Given the description of an element on the screen output the (x, y) to click on. 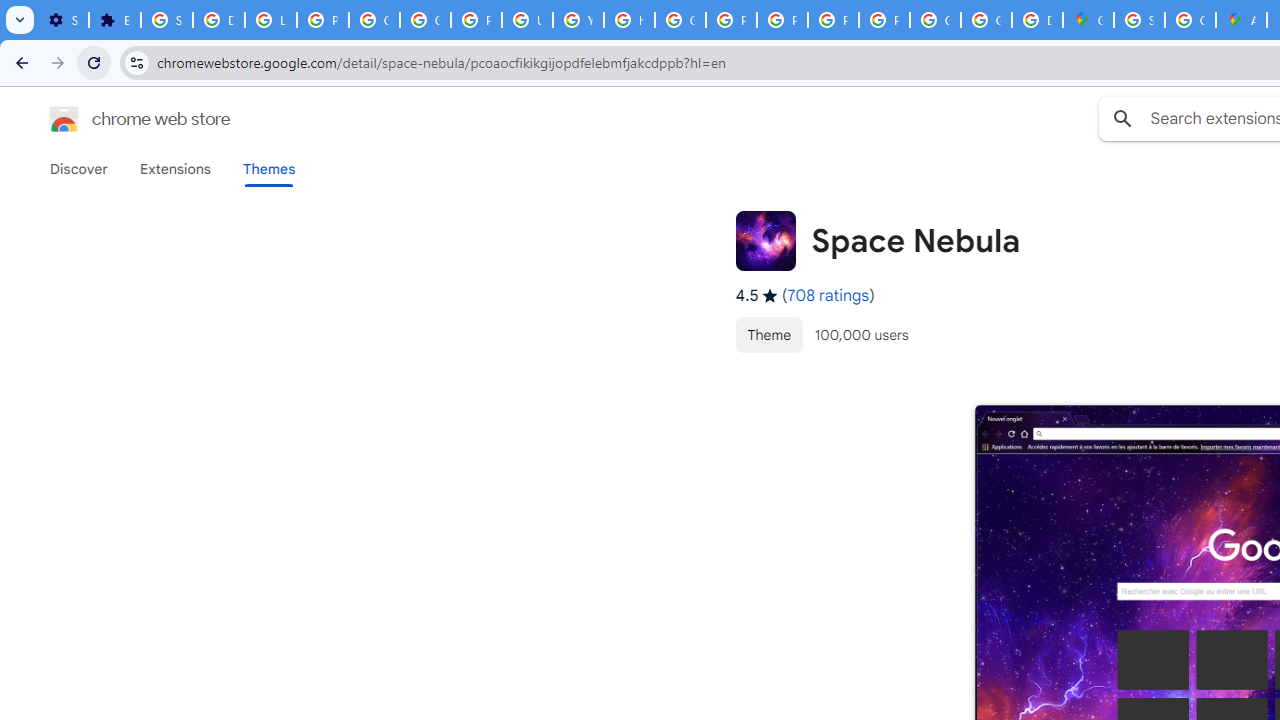
Create your Google Account (1189, 20)
Privacy Help Center - Policies Help (731, 20)
Sign in - Google Accounts (1138, 20)
708 ratings (828, 295)
Discover (79, 169)
YouTube (578, 20)
Delete photos & videos - Computer - Google Photos Help (218, 20)
